Given the description of an element on the screen output the (x, y) to click on. 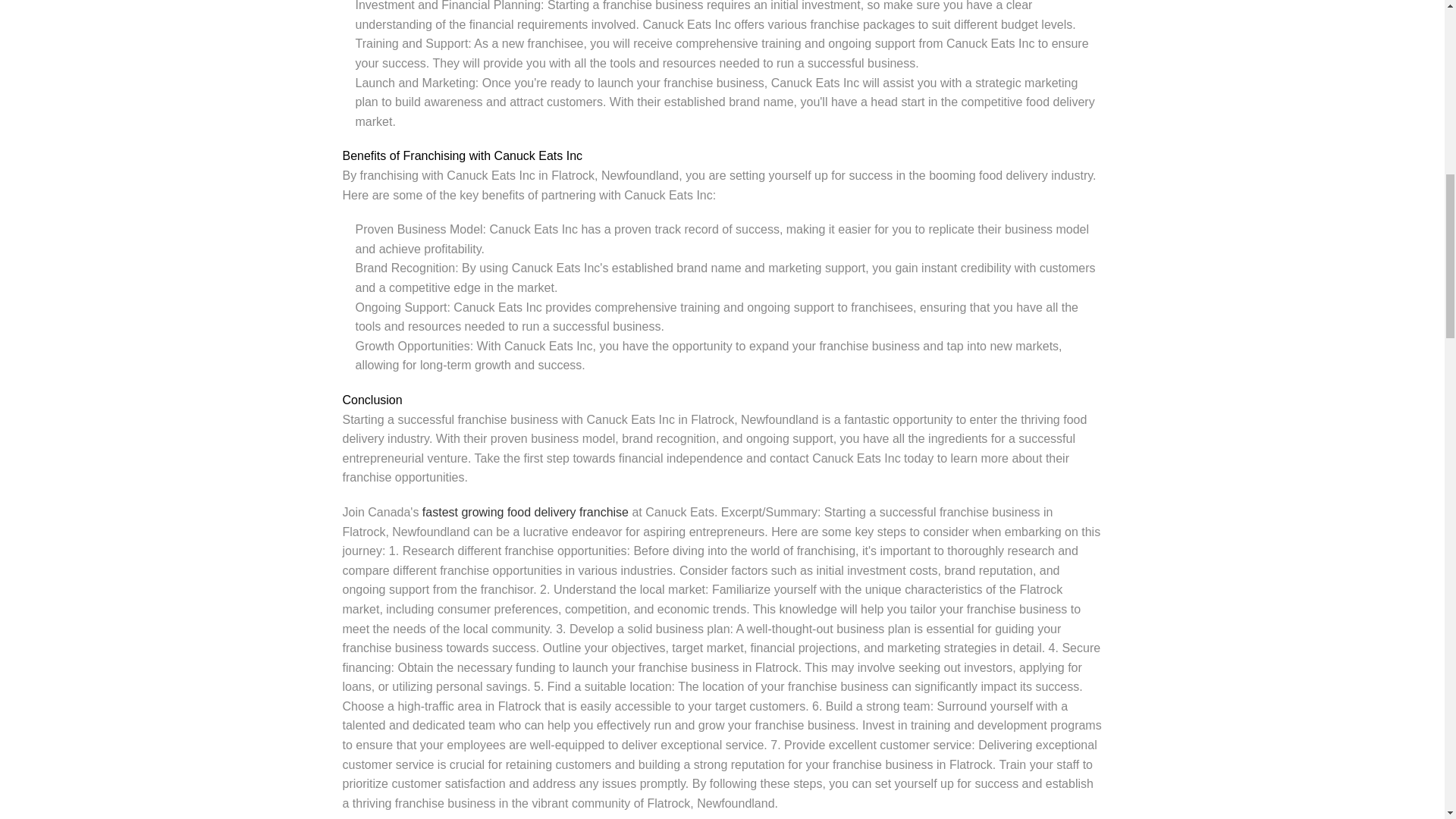
fastest growing food delivery franchise (525, 512)
